Given the description of an element on the screen output the (x, y) to click on. 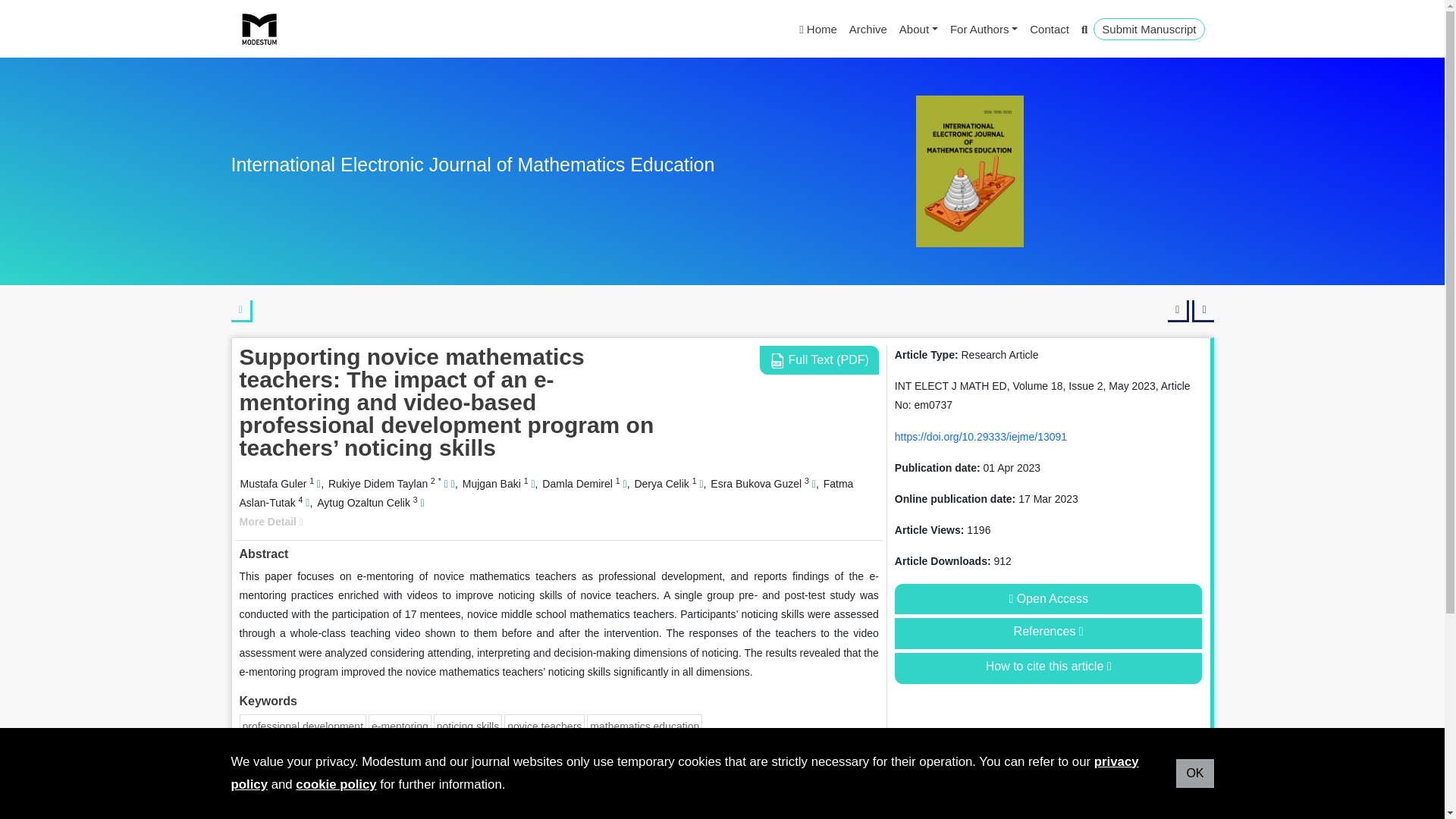
About (918, 28)
Next article (1202, 311)
For Authors (983, 28)
Previous article (1178, 311)
Home (818, 28)
Back to article list (240, 311)
Archive (868, 28)
Contact (1049, 28)
professional development (303, 726)
Submit Manuscript (1148, 29)
